Given the description of an element on the screen output the (x, y) to click on. 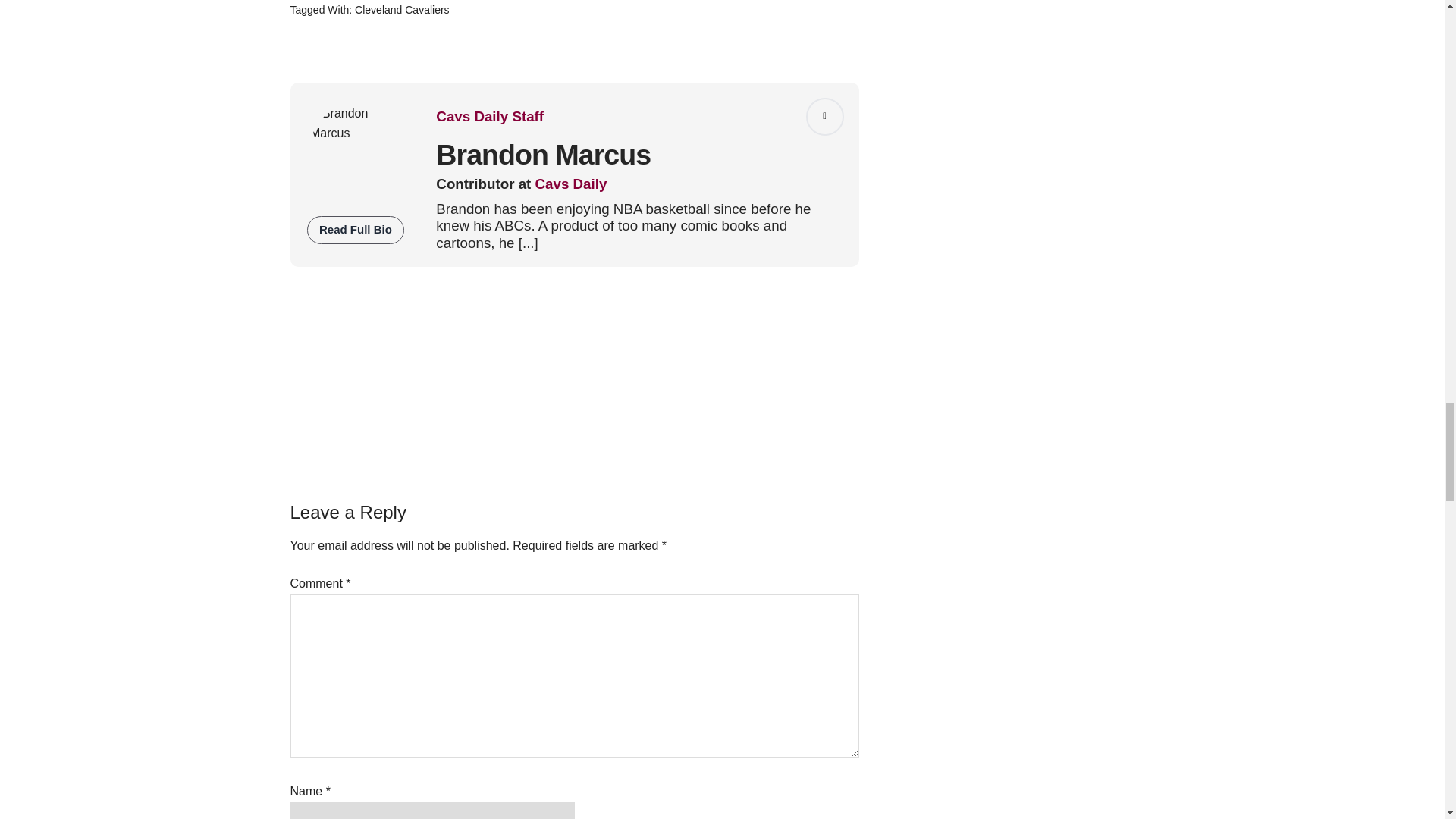
Cleveland Cavaliers (402, 9)
Cavs Daily (571, 183)
Read Full Bio (355, 230)
